Given the description of an element on the screen output the (x, y) to click on. 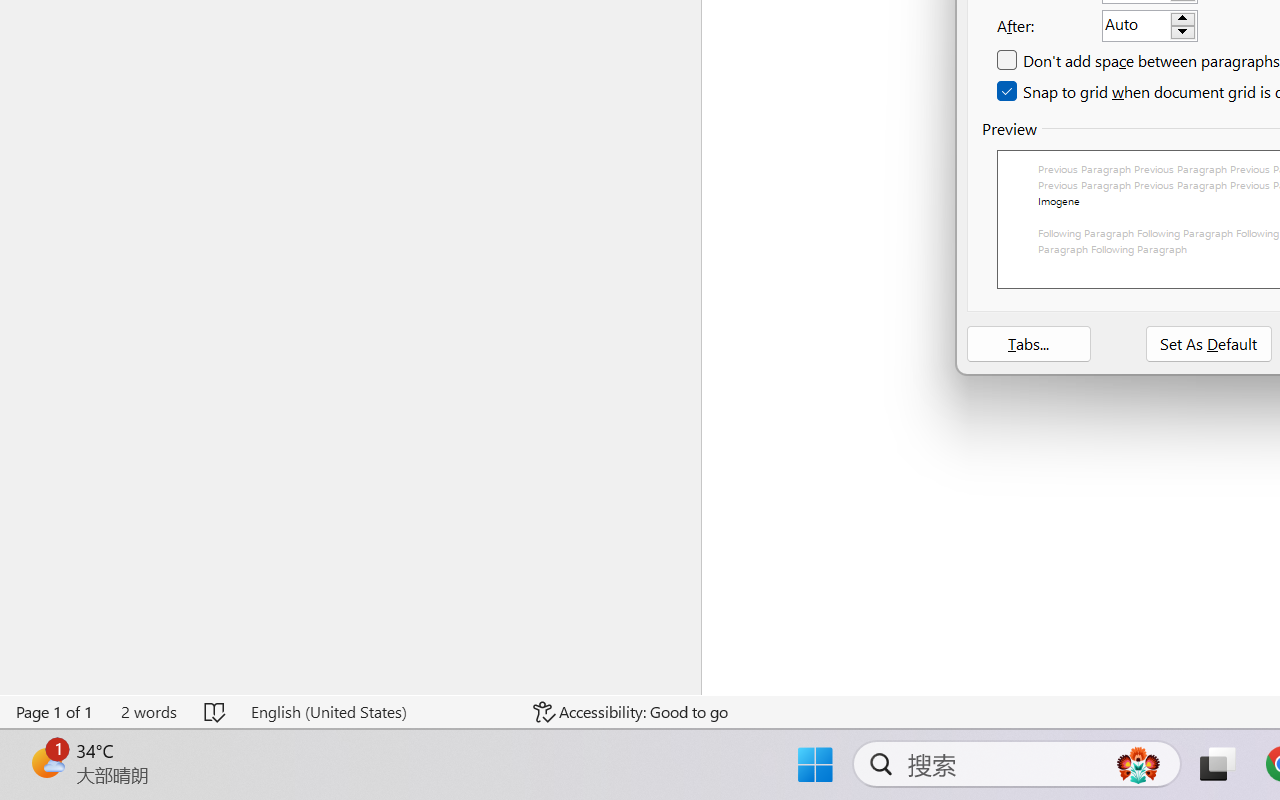
After: (1150, 25)
RichEdit Control (1136, 25)
Tabs... (1028, 343)
Page Number Page 1 of 1 (55, 712)
Set As Default (1209, 343)
